Given the description of an element on the screen output the (x, y) to click on. 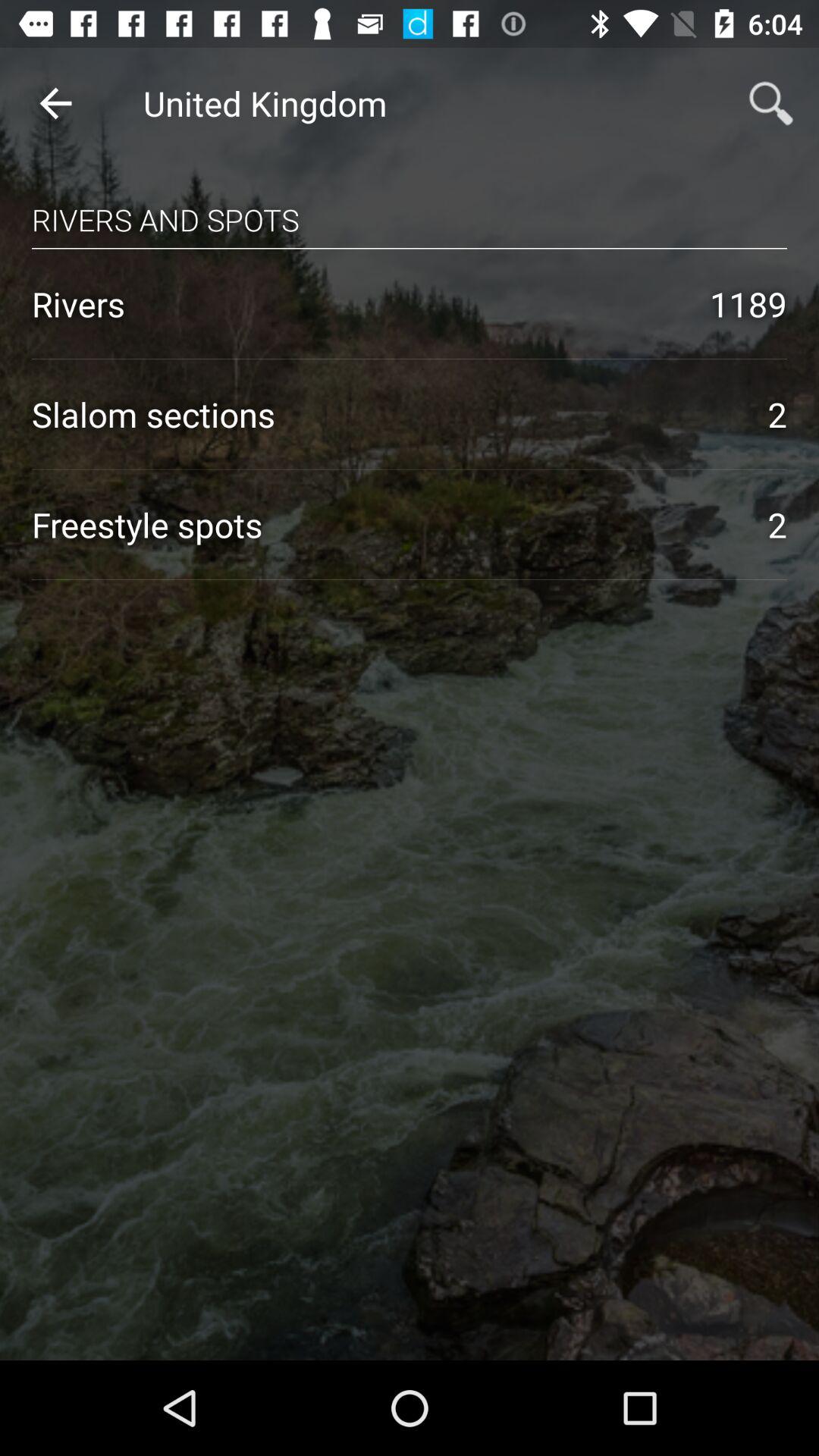
select the item to the left of the united kingdom icon (55, 103)
